Given the description of an element on the screen output the (x, y) to click on. 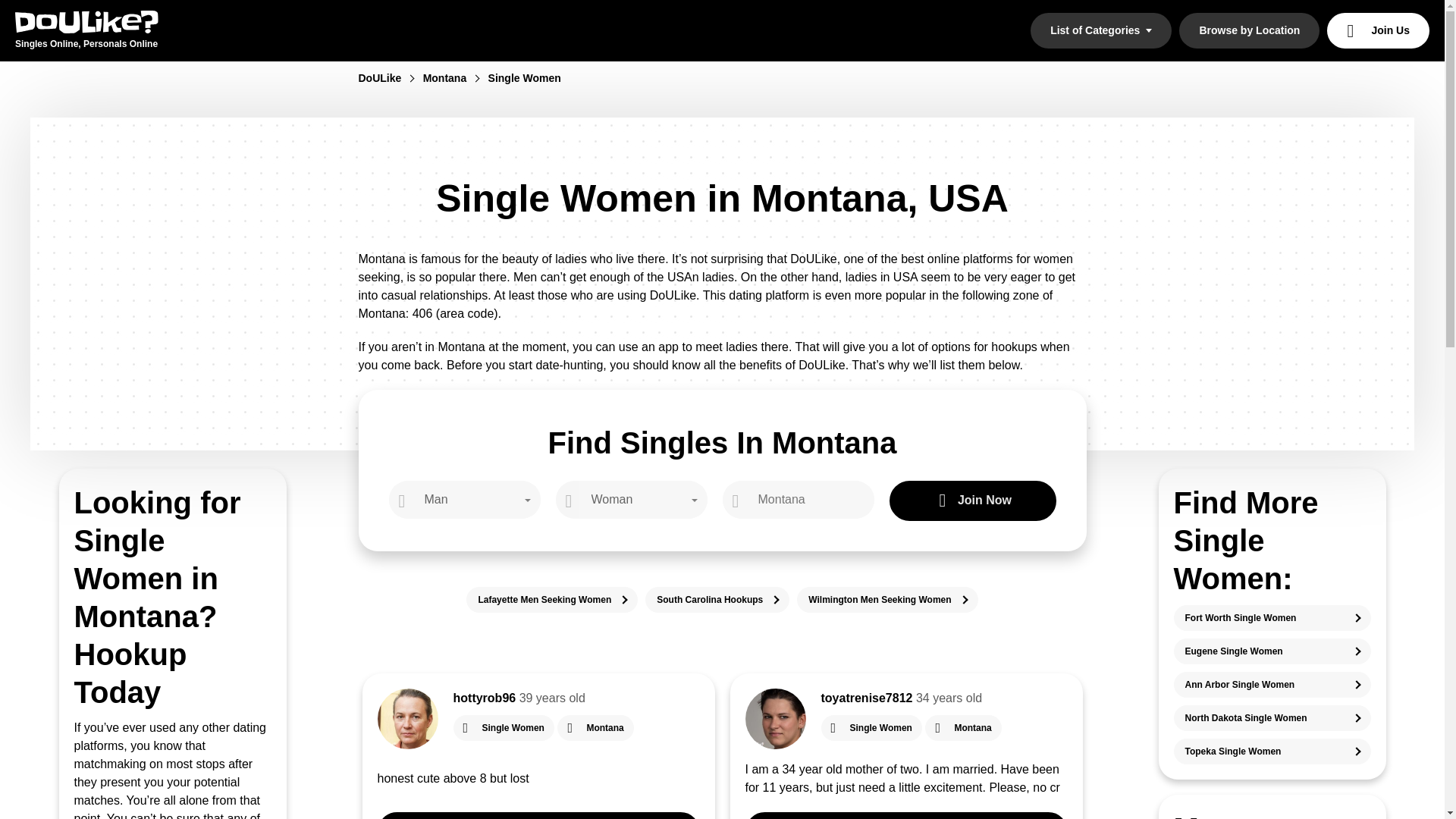
toyatrenise7812 (866, 697)
Free Message (905, 815)
Montana (453, 78)
hottyrob96 (484, 697)
Free Message (538, 815)
DoULike (388, 78)
Montana (595, 727)
Montana (962, 727)
Wilmington Men Seeking Women (886, 599)
Join Now (971, 500)
